Given the description of an element on the screen output the (x, y) to click on. 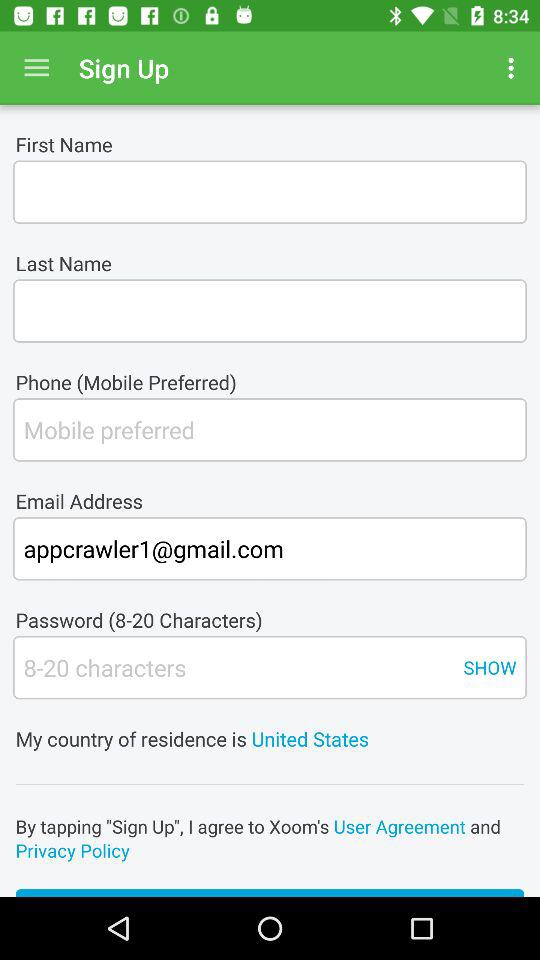
scroll to the my country of item (270, 725)
